Given the description of an element on the screen output the (x, y) to click on. 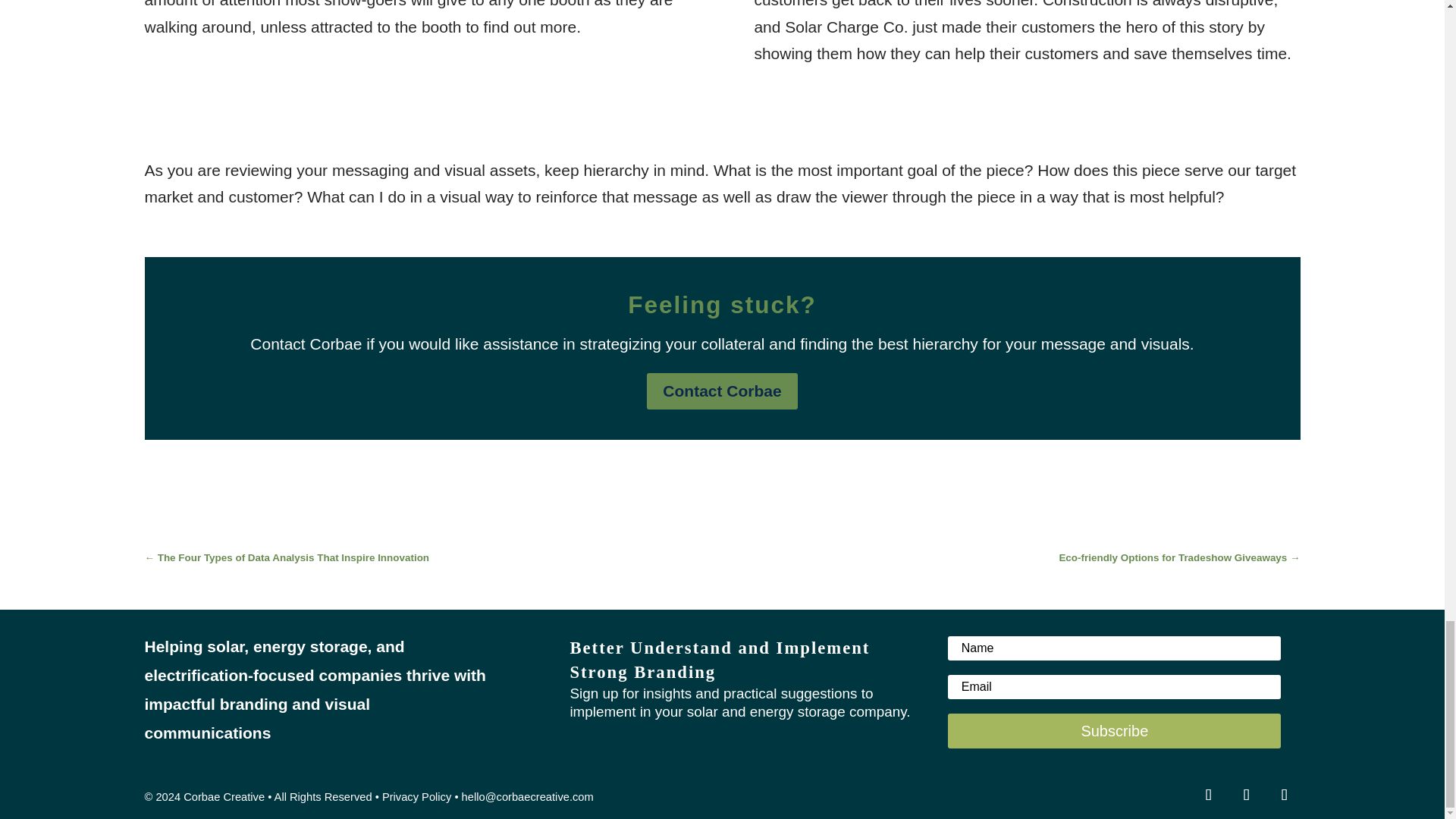
Contact Corbae (721, 391)
Follow on LinkedIn (1208, 794)
Follow on X (1246, 794)
Follow on Instagram (1284, 794)
Subscribe (1114, 730)
Privacy Policy (416, 797)
